Given the description of an element on the screen output the (x, y) to click on. 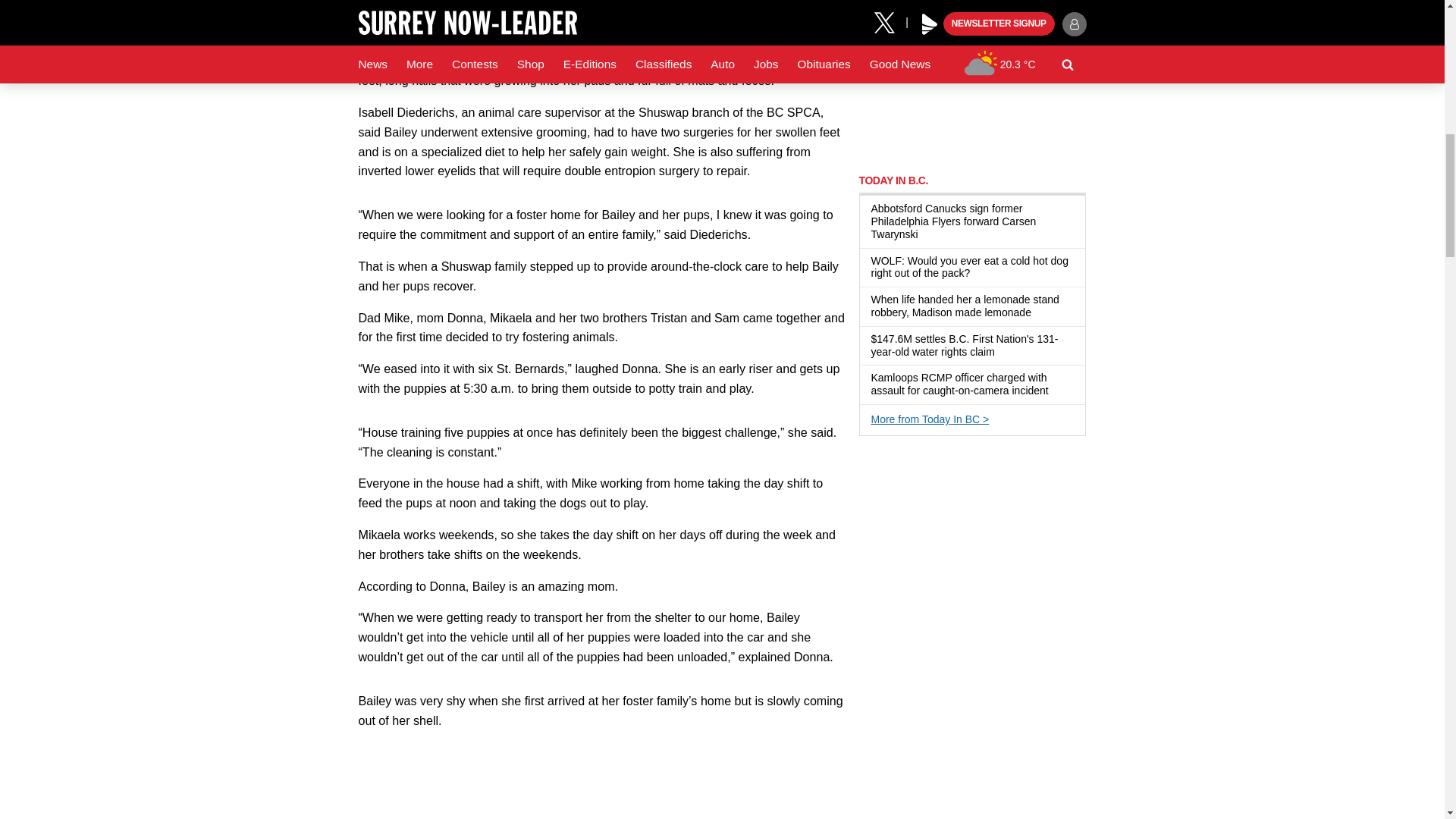
YouTube video player (602, 780)
